Given the description of an element on the screen output the (x, y) to click on. 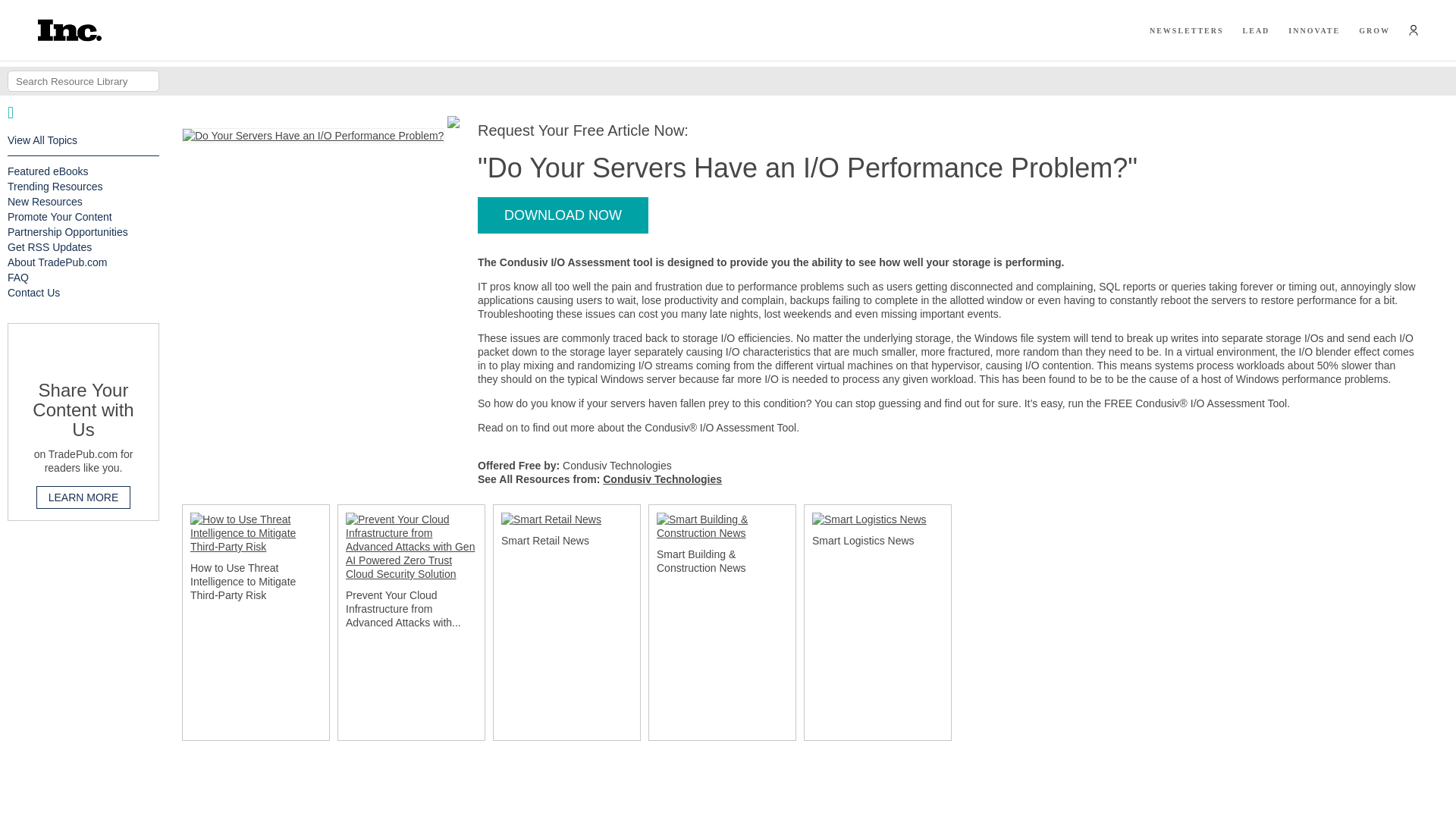
INNOVATE (1313, 30)
GROW (1374, 30)
Continue to Newsletters on Inc.com (1187, 30)
NEWSLETTERS (1187, 30)
Continue to Innovate on Inc.com (1313, 30)
Continue to Grow on Inc.com (1374, 30)
Continue to Lead on Inc.com (1256, 30)
LEAD (1256, 30)
